Given the description of an element on the screen output the (x, y) to click on. 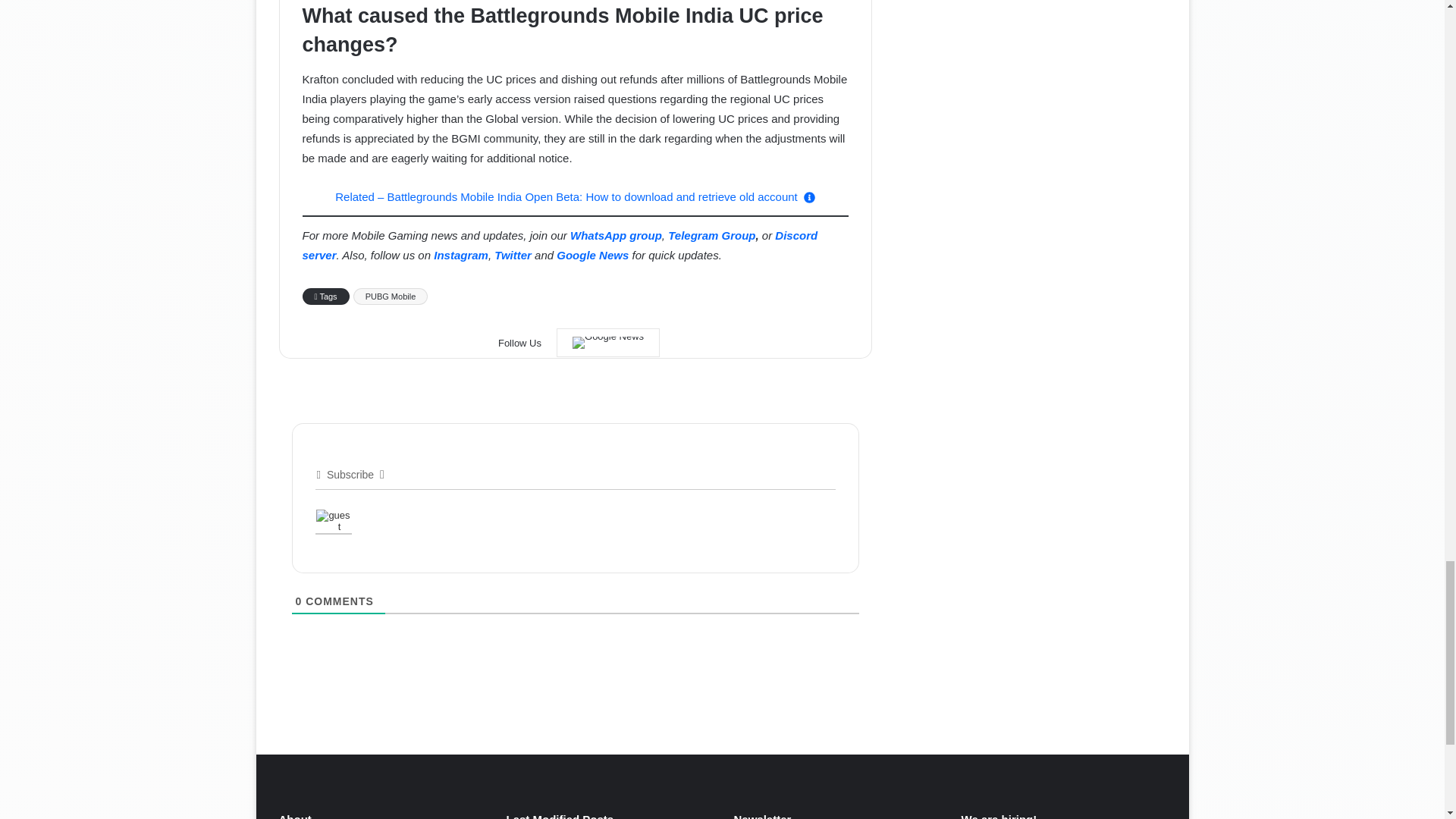
Google News (607, 342)
